Given the description of an element on the screen output the (x, y) to click on. 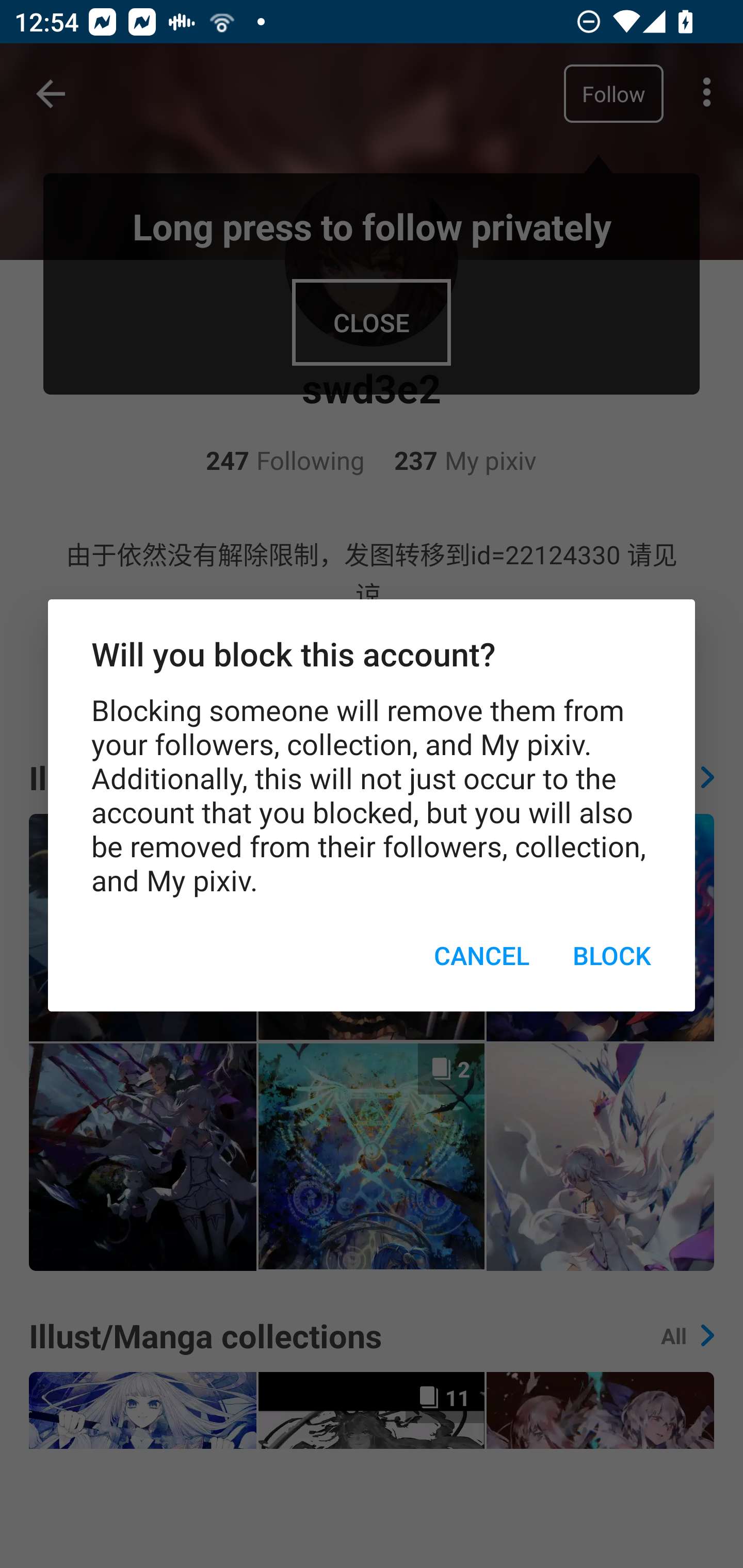
CANCEL (481, 954)
BLOCK (612, 954)
